Given the description of an element on the screen output the (x, y) to click on. 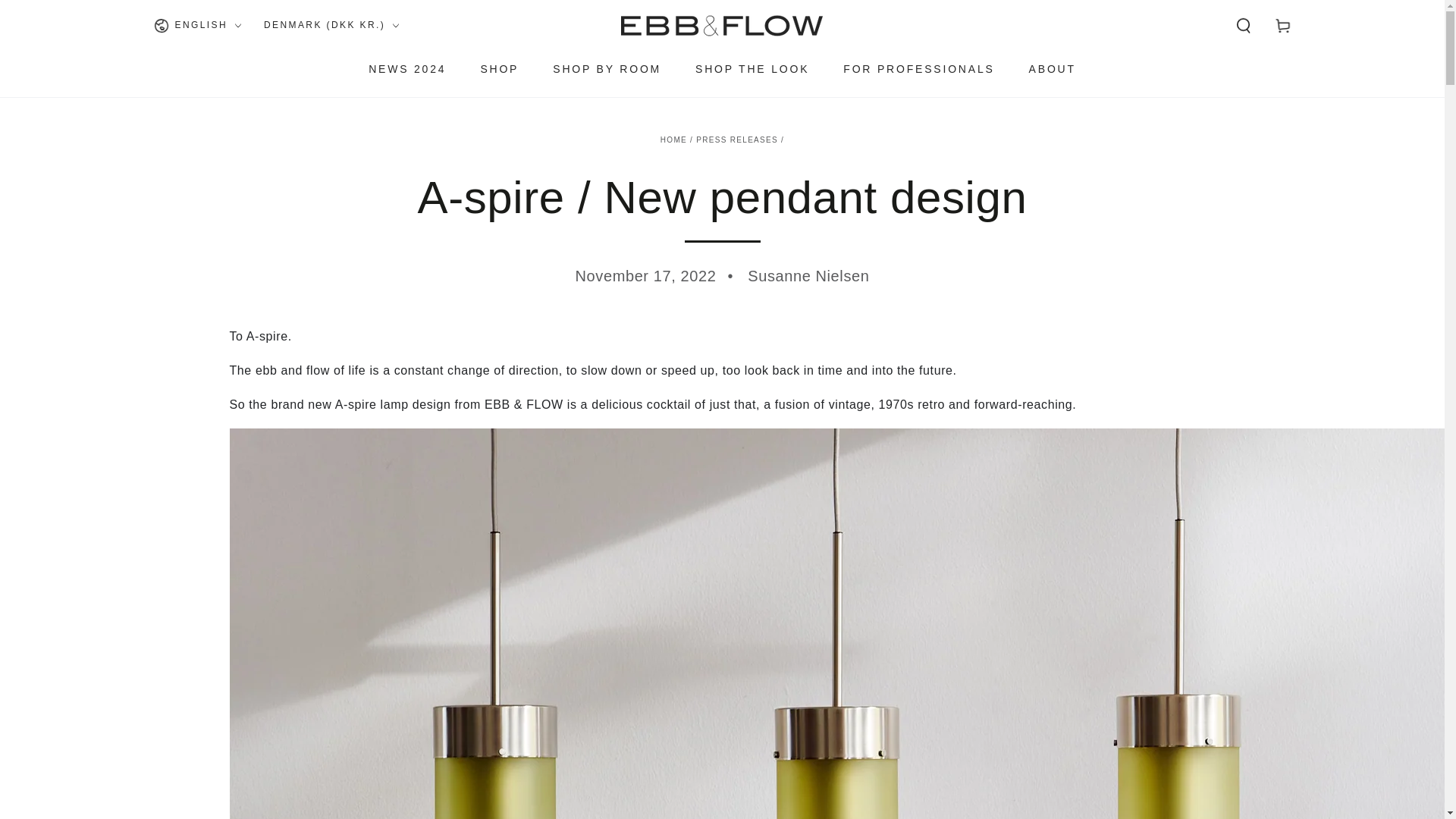
SHOP (498, 67)
SKIP TO CONTENT (67, 14)
NEWS 2024 (406, 67)
ENGLISH (196, 25)
Back to the frontpage (674, 139)
